Given the description of an element on the screen output the (x, y) to click on. 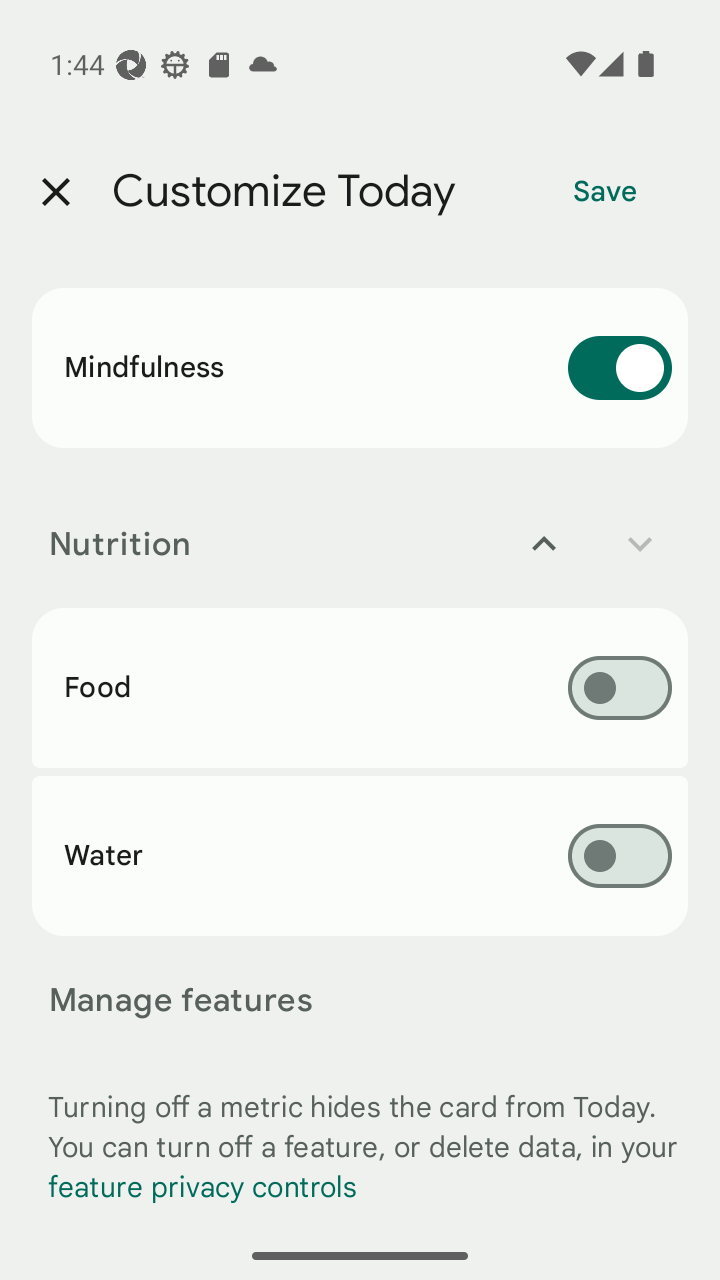
Close (55, 191)
Save (605, 191)
Mindfulness (359, 368)
Move Nutrition up (543, 543)
Move Nutrition down (639, 543)
Food (359, 688)
Water (359, 855)
